Given the description of an element on the screen output the (x, y) to click on. 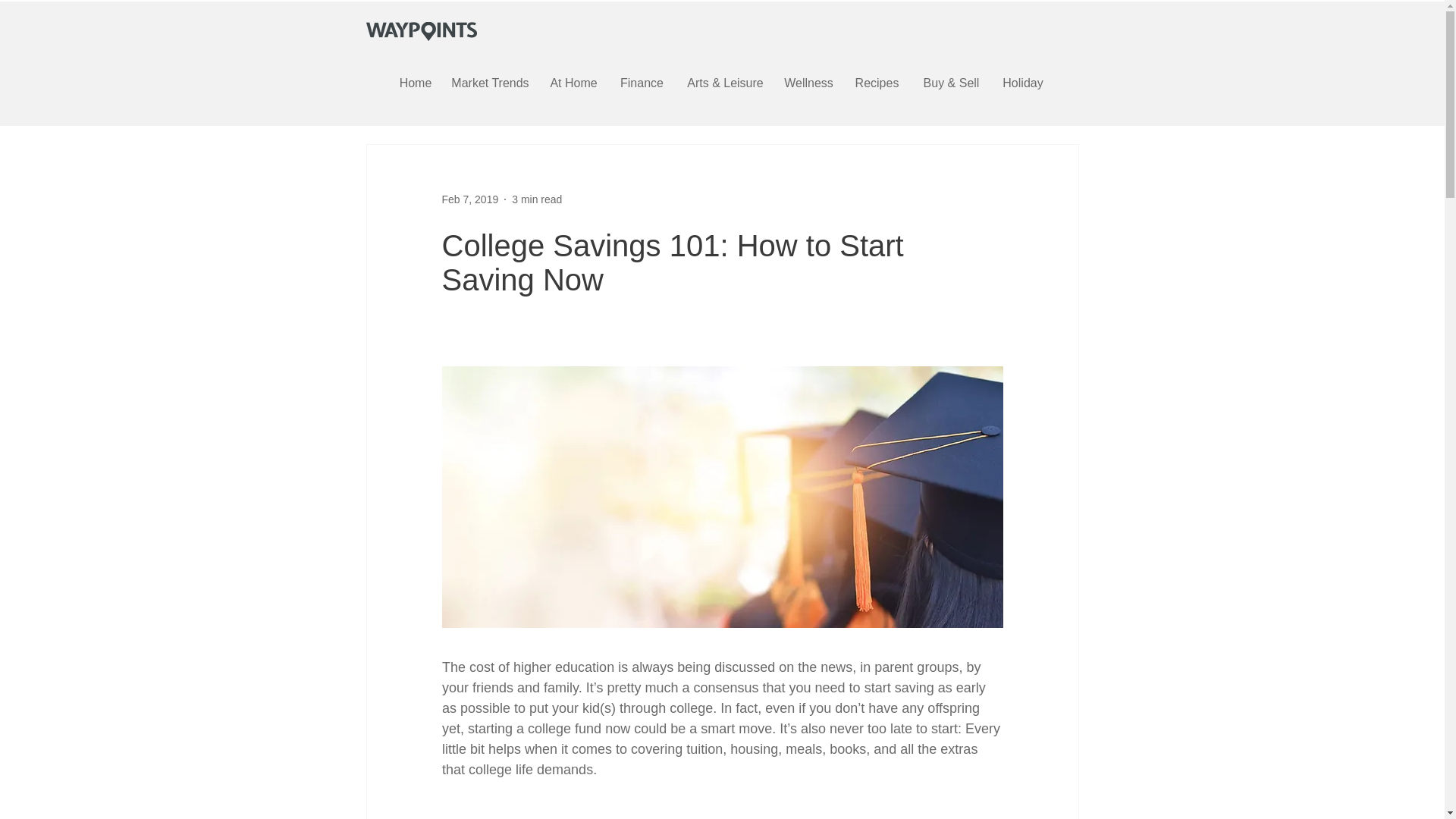
Market Trends (490, 82)
At Home (574, 82)
Wellness (808, 82)
Home (415, 82)
Recipes (877, 82)
Finance (642, 82)
Feb 7, 2019 (469, 198)
3 min read (537, 198)
Holiday (1022, 82)
